Given the description of an element on the screen output the (x, y) to click on. 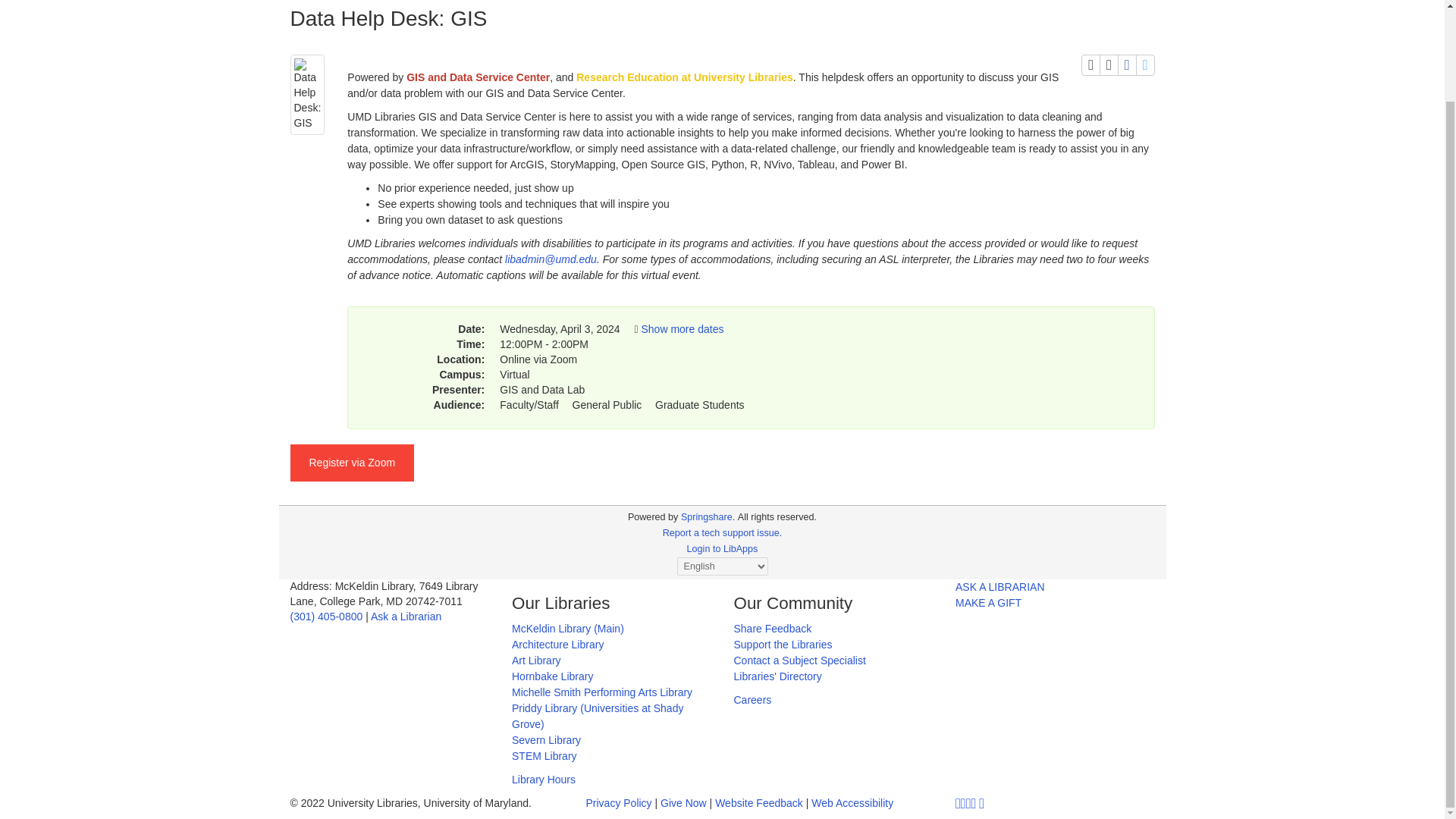
Print page (1090, 65)
Print the page (1090, 65)
Architecture Library (558, 644)
Art Library (536, 660)
Hornbake Library (552, 676)
Support the Libraries (782, 644)
Login to LibApps (722, 548)
Share Feedback (772, 628)
Contact a Subject Specialist (799, 660)
Share page on Facebook (1127, 65)
Share on Twitter (1144, 65)
Show more dates (681, 328)
Report a tech support issue. (722, 532)
STEM Library (544, 756)
Share on Facebook (1127, 65)
